Given the description of an element on the screen output the (x, y) to click on. 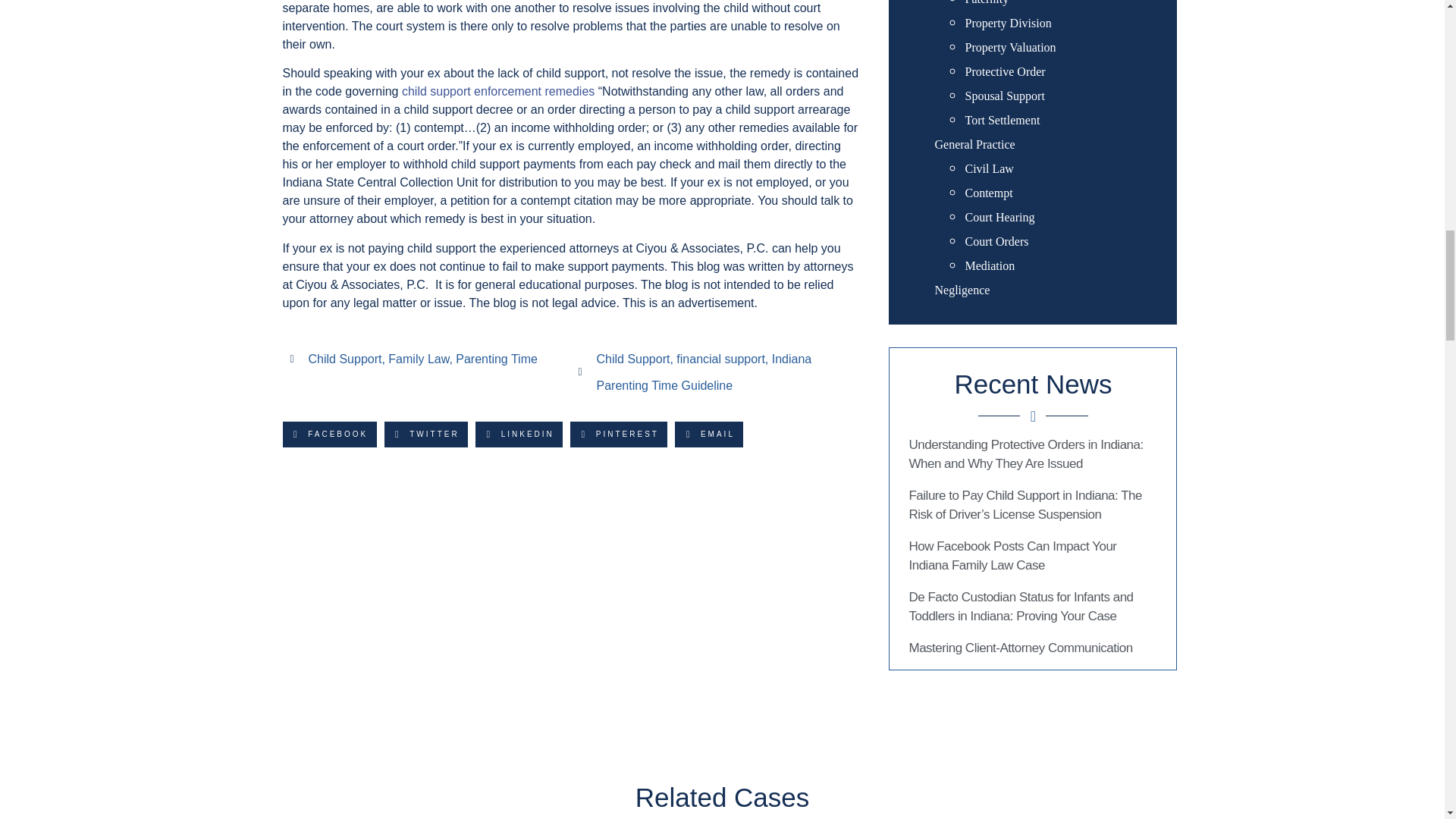
Child Support (344, 358)
child support enforcement remedies (497, 91)
Child Support (632, 358)
Parenting Time (496, 358)
Family Law (418, 358)
financial support (721, 358)
